Given the description of an element on the screen output the (x, y) to click on. 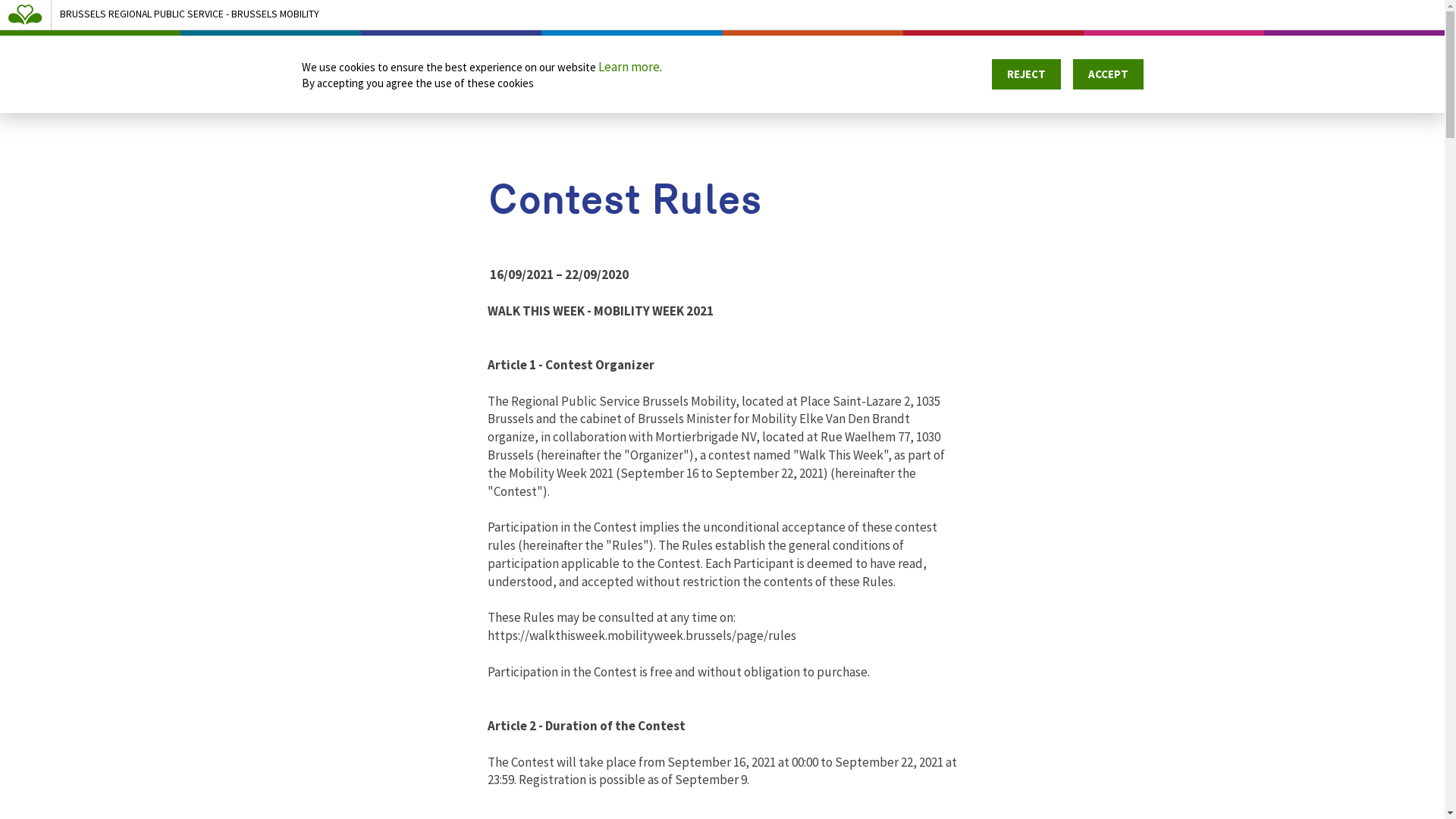
ACCEPT Element type: text (1107, 74)
MORE INFO Element type: text (1101, 57)
REJECT Element type: text (1025, 74)
HOMEPAGE Element type: text (997, 57)
RANKING Element type: text (1198, 57)
FAQ Element type: text (1270, 57)
LOG IN Element type: text (1357, 57)
Learn more Element type: text (627, 67)
BRUSSELS REGIONAL PUBLIC SERVICE - BRUSSELS MOBILITY Element type: text (713, 14)
EN Element type: text (1416, 57)
